Given the description of an element on the screen output the (x, y) to click on. 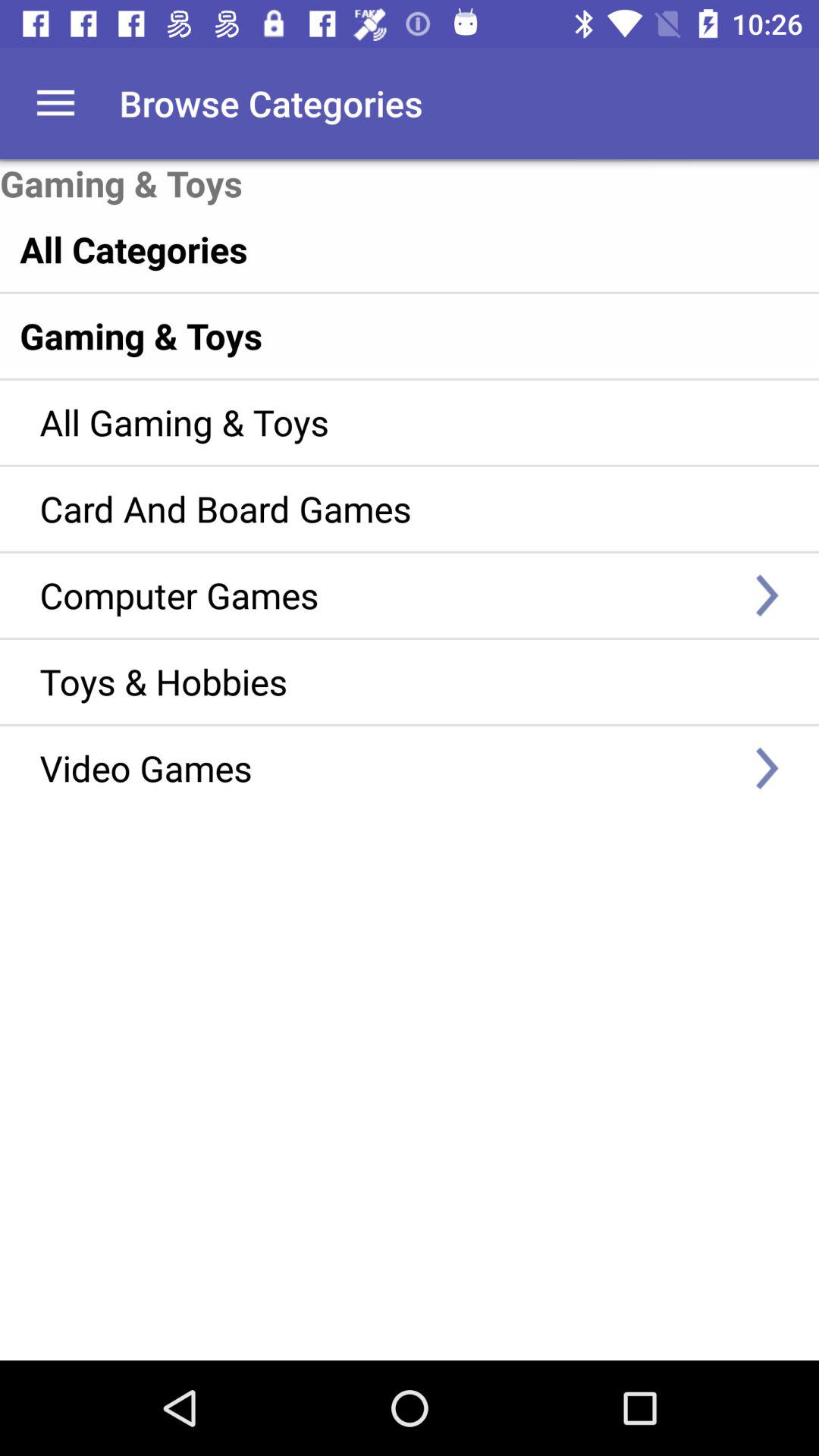
turn on item above toys & hobbies item (387, 595)
